Given the description of an element on the screen output the (x, y) to click on. 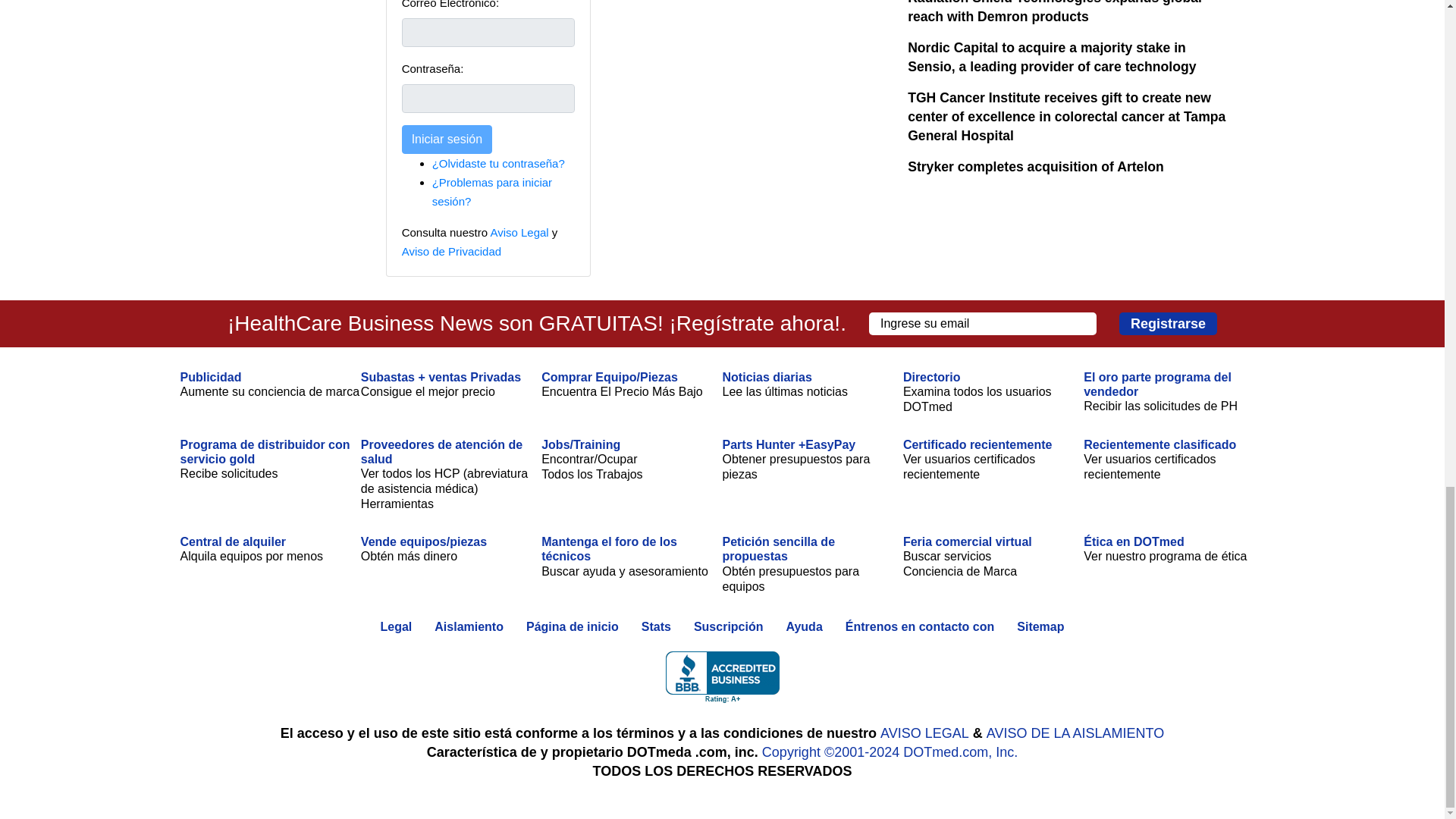
Forget your password? (498, 163)
Login Problems? (491, 192)
